Given the description of an element on the screen output the (x, y) to click on. 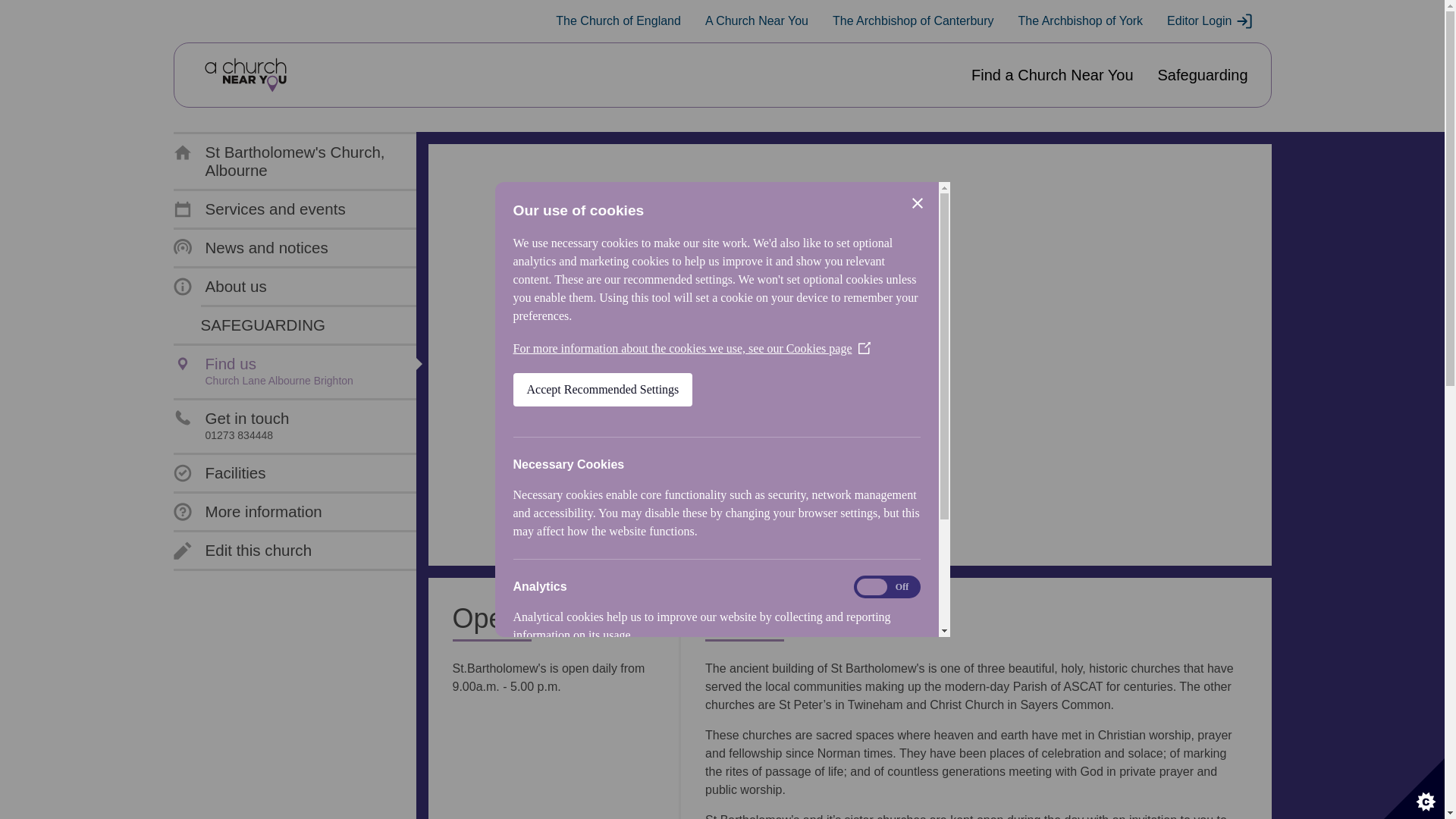
Safeguarding (1202, 75)
St Bartholomew's Church, Albourne (291, 161)
The Archbishop of Canterbury (913, 21)
Edit this church (242, 550)
The Church of England (618, 21)
About us (219, 286)
A Church Near You (756, 21)
Services and events (259, 208)
News and notices (250, 248)
Accept Recommended Settings (602, 630)
Facilities (218, 473)
Find a Church Near You (230, 426)
ACNY home (1051, 75)
More information (245, 75)
